Given the description of an element on the screen output the (x, y) to click on. 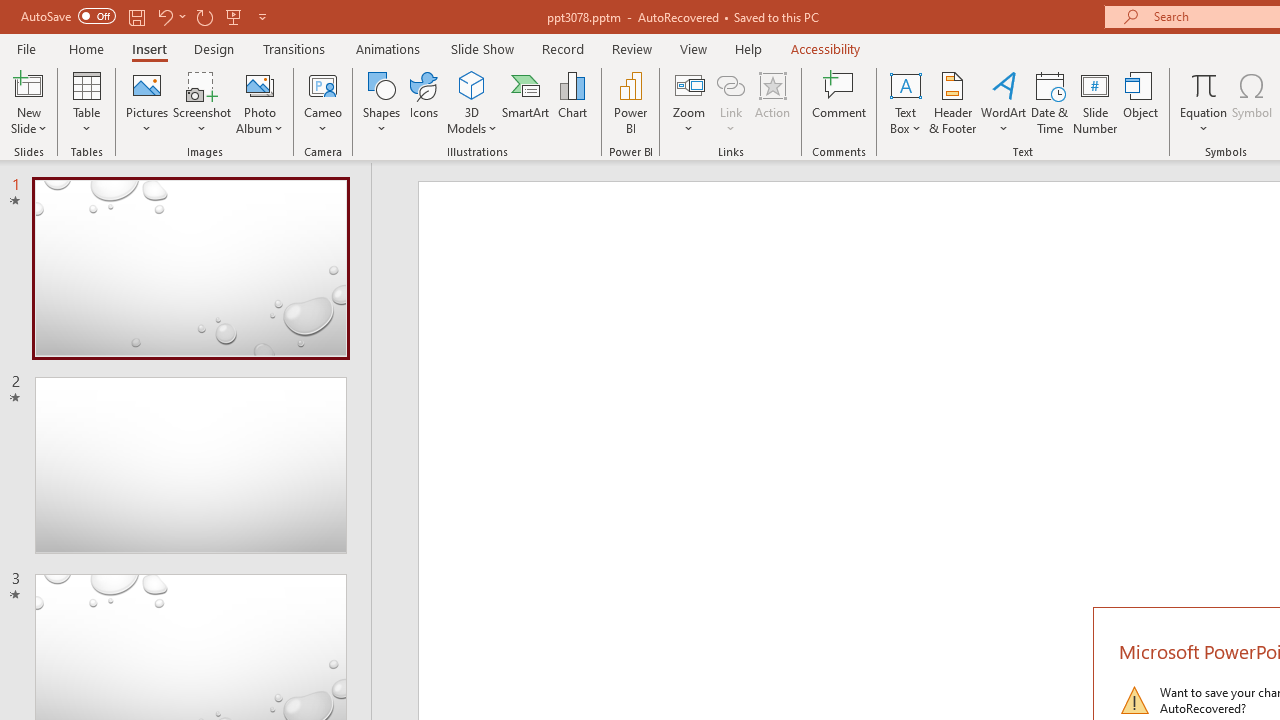
SmartArt... (525, 102)
Action (772, 102)
Equation (1203, 102)
New Photo Album... (259, 84)
Equation (1203, 84)
Slide Number (1095, 102)
Table (86, 102)
